Given the description of an element on the screen output the (x, y) to click on. 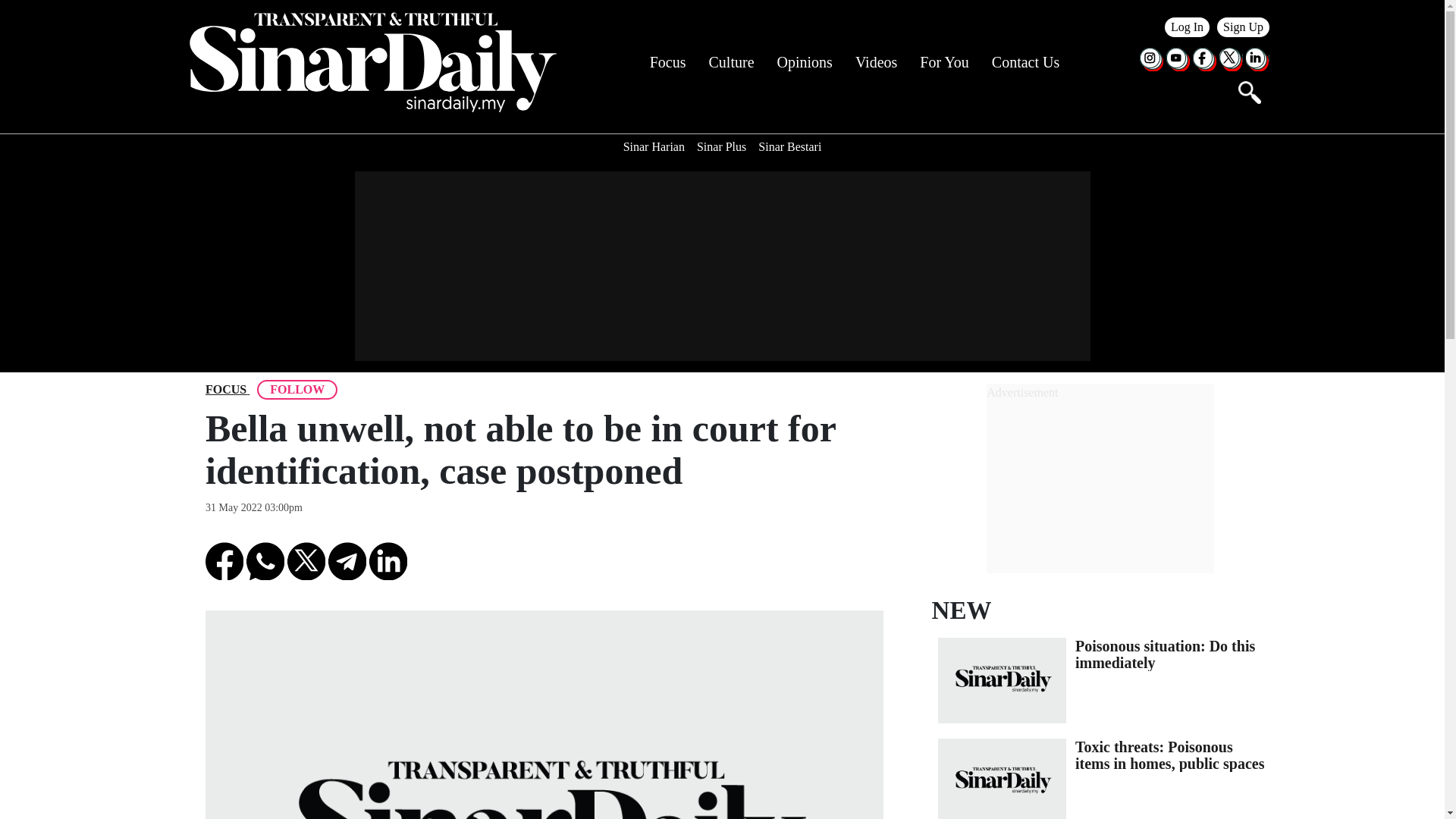
Opinions (804, 62)
Share on Telegram (347, 560)
Log In (1186, 26)
Share on LinkedIn (388, 560)
Videos (876, 62)
Sinar Harian (653, 146)
Share on Twitter (305, 560)
Culture (731, 62)
Sinar Daily (371, 62)
Share Article on Facebook (224, 560)
Focus (225, 389)
Sinar Plus (721, 146)
Sign Up (1243, 26)
Contact Us (1025, 62)
For You (944, 62)
